Given the description of an element on the screen output the (x, y) to click on. 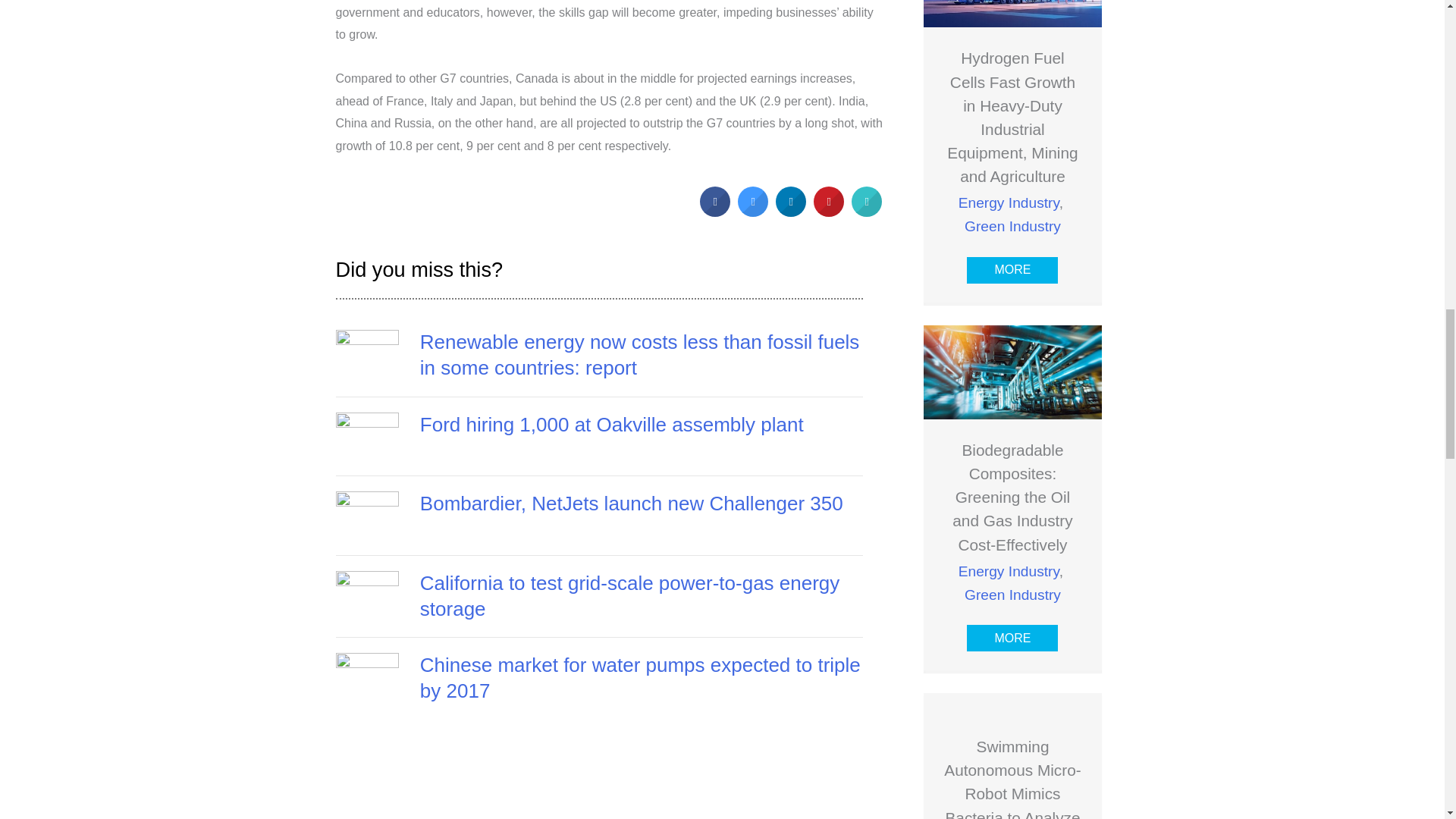
Ford hiring 1,000 at Oakville assembly plant (611, 424)
Bombardier, NetJets launch new Challenger 350 (631, 503)
Print this page (866, 212)
California to test grid-scale power-to-gas energy storage (630, 595)
Bombardier, NetJets launch new Challenger 350 (366, 521)
Share to LinkedIn (791, 212)
Ford hiring 1,000 at Oakville assembly plant (366, 442)
Chinese market for water pumps expected to triple by 2017 (640, 677)
California to test grid-scale power-to-gas energy storage (630, 595)
